Given the description of an element on the screen output the (x, y) to click on. 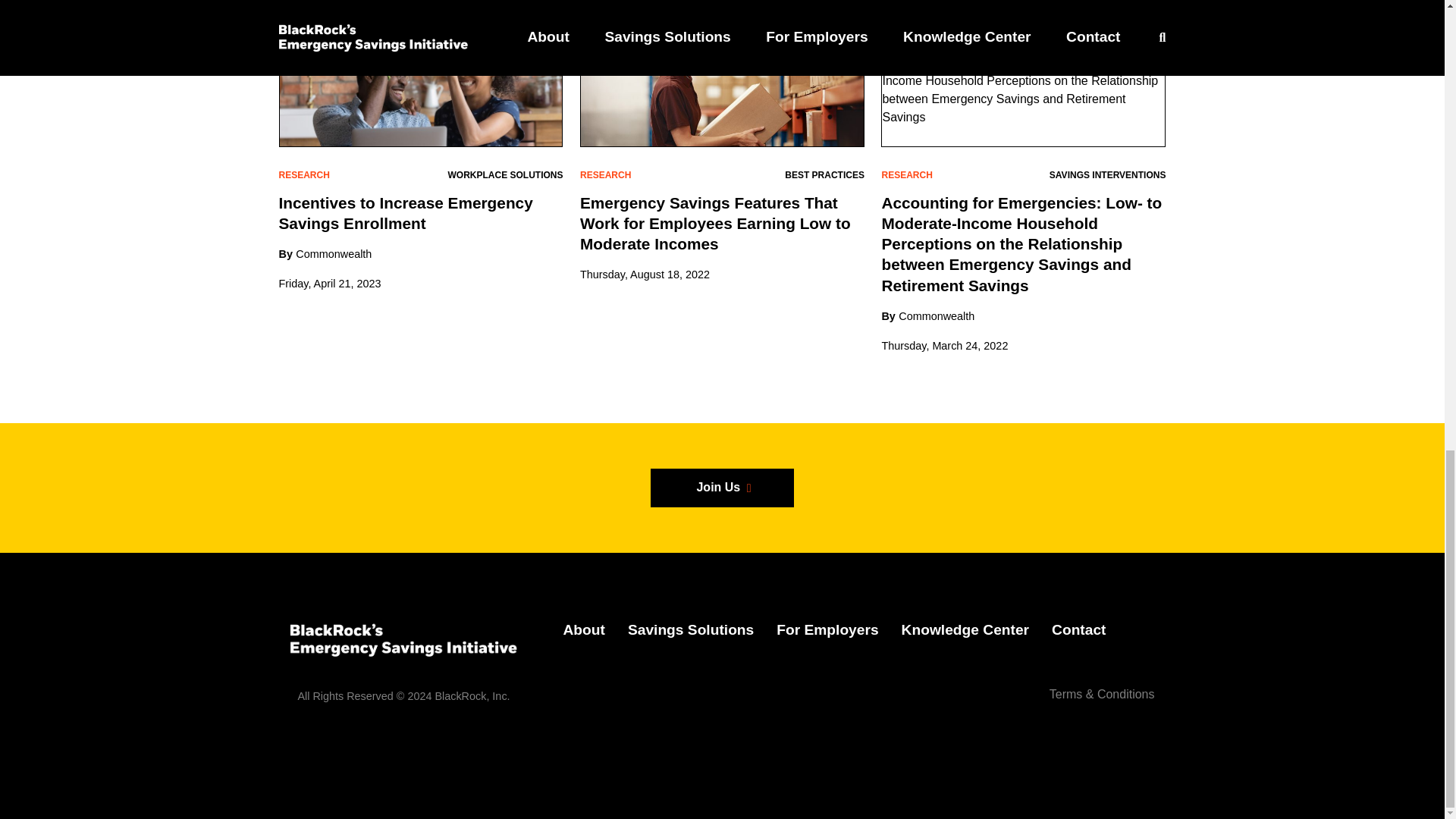
Knowledge Center (965, 629)
Contact (1078, 629)
Incentives to Increase Emergency Savings Enrollment (405, 212)
BEST PRACTICES (824, 174)
About (583, 629)
For Employers (826, 629)
Savings Solutions (690, 629)
SAVINGS INTERVENTIONS (1107, 174)
WORKPLACE SOLUTIONS (504, 174)
